Given the description of an element on the screen output the (x, y) to click on. 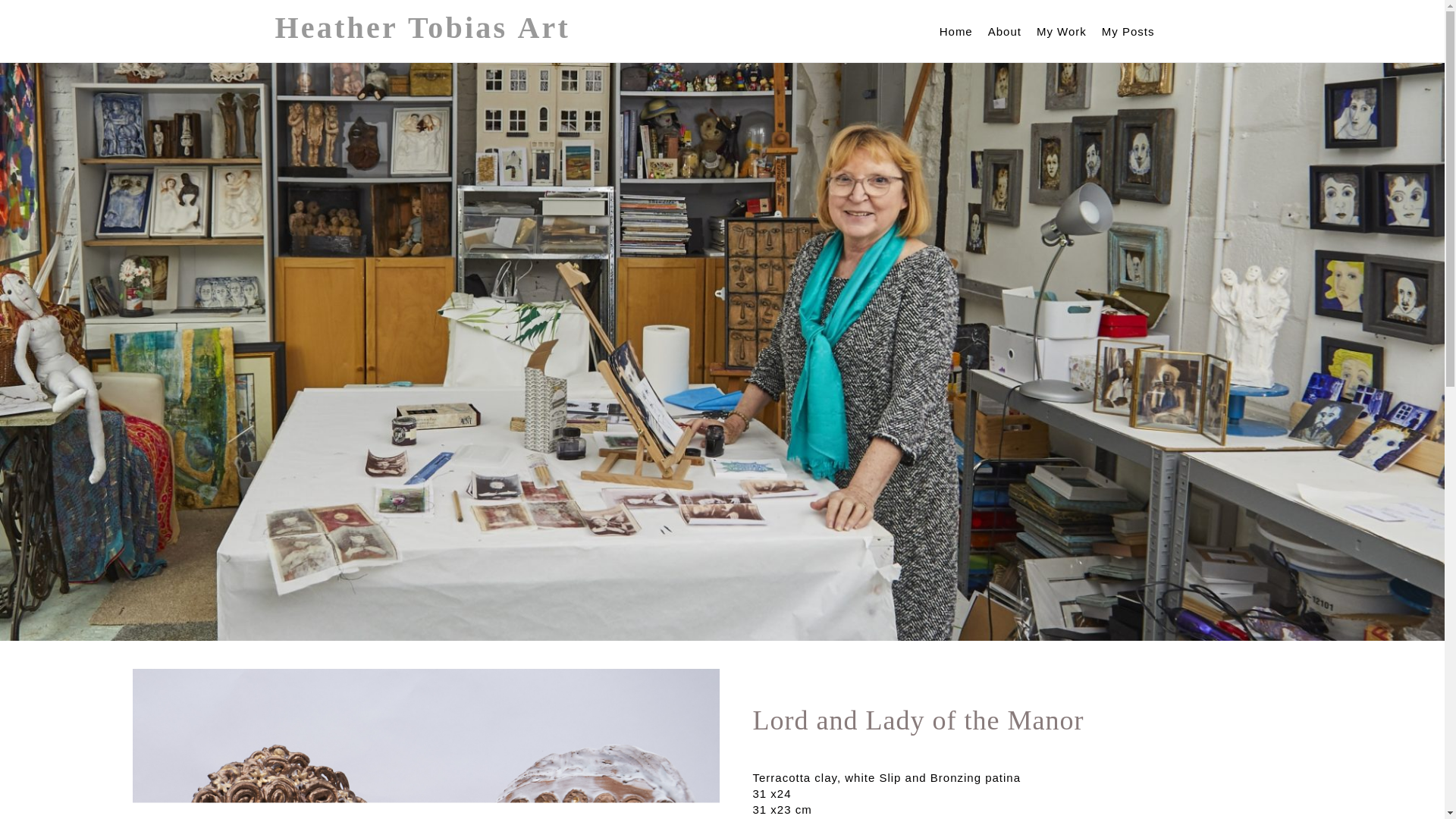
About (1005, 30)
My Posts (1128, 30)
My Work (1061, 30)
Home (955, 30)
Heather Tobias Art (422, 28)
Lord and Lady of the Manor (425, 744)
Heather Tobias Art (422, 28)
